Given the description of an element on the screen output the (x, y) to click on. 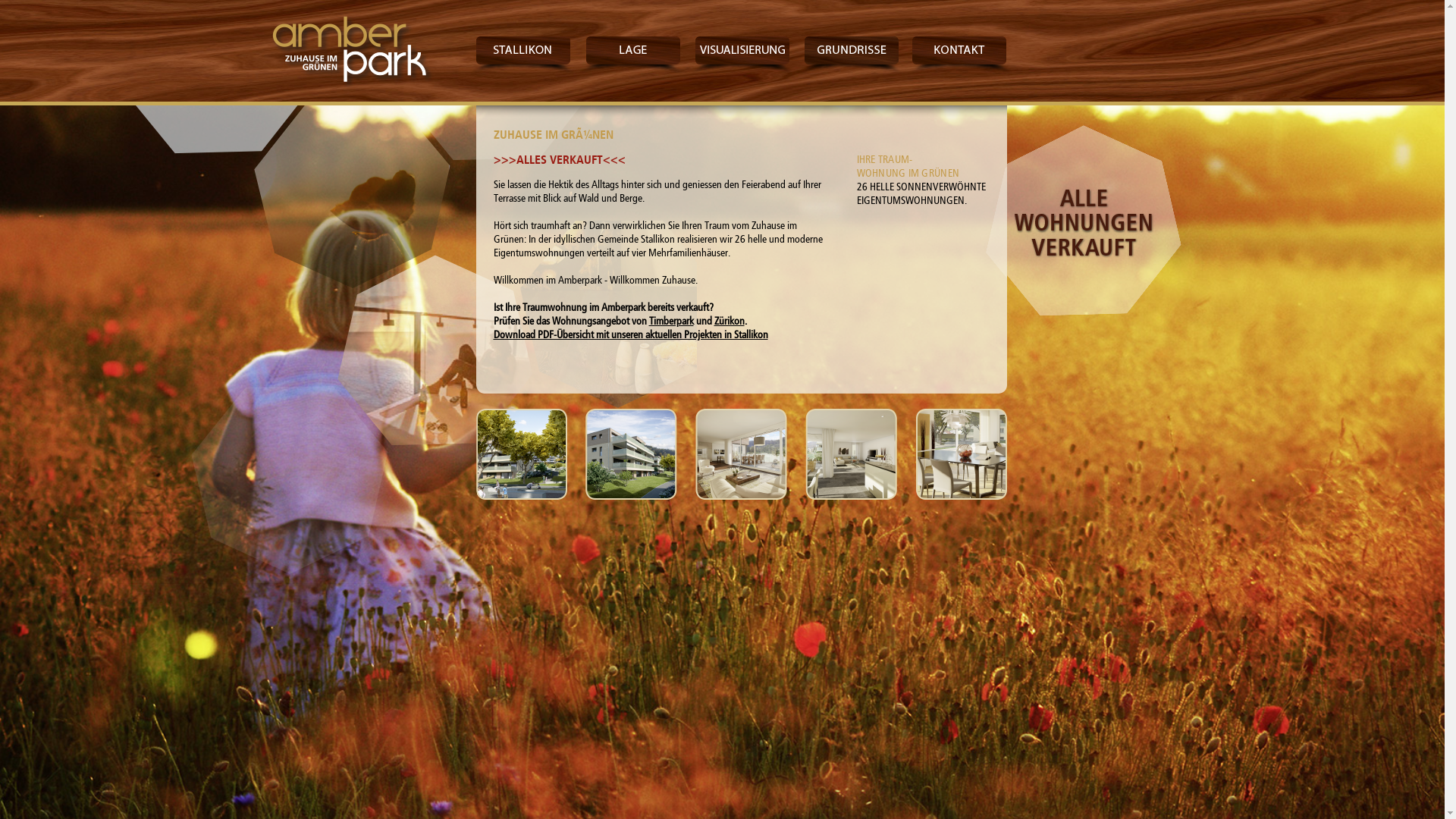
Zum Bereich Visualisierung wechseln Element type: hover (741, 453)
  Element type: text (632, 55)
Timberpark Element type: text (671, 320)
  Element type: text (850, 55)
  Element type: text (523, 55)
Zur Startseite Element type: hover (349, 49)
  Element type: text (959, 55)
  Element type: text (741, 55)
  Element type: text (349, 49)
